Given the description of an element on the screen output the (x, y) to click on. 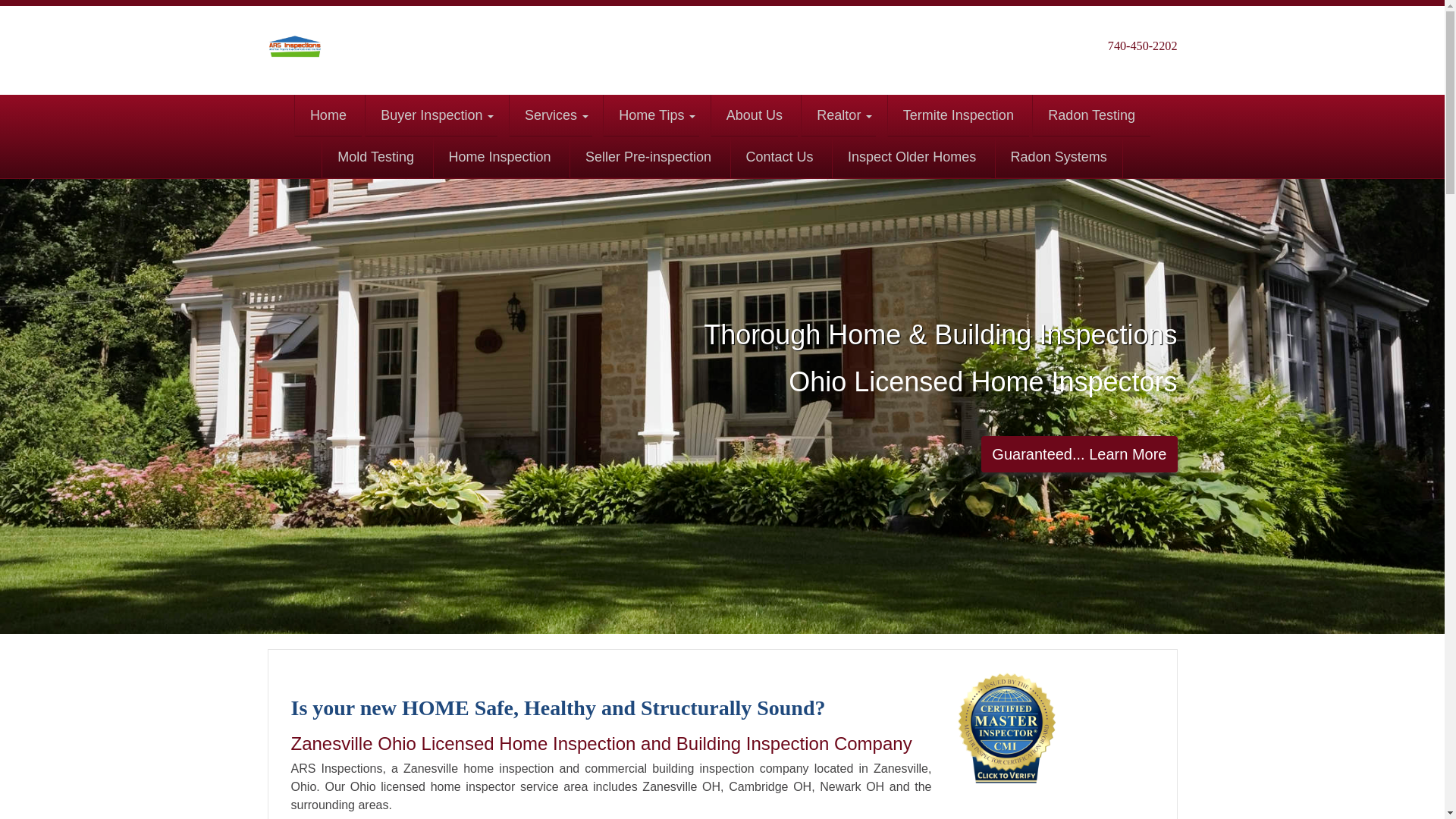
Mold Testing (375, 157)
Home (327, 115)
Guaranteed... Learn More (1078, 453)
Termite Inspection (957, 115)
Contact Us (779, 157)
About Us (753, 115)
Inspect Older Homes (911, 157)
Home Inspection (499, 157)
740-450-2202 (1142, 46)
Radon Testing (1091, 115)
Seller Pre-inspection (647, 157)
Radon Systems (1058, 157)
